Given the description of an element on the screen output the (x, y) to click on. 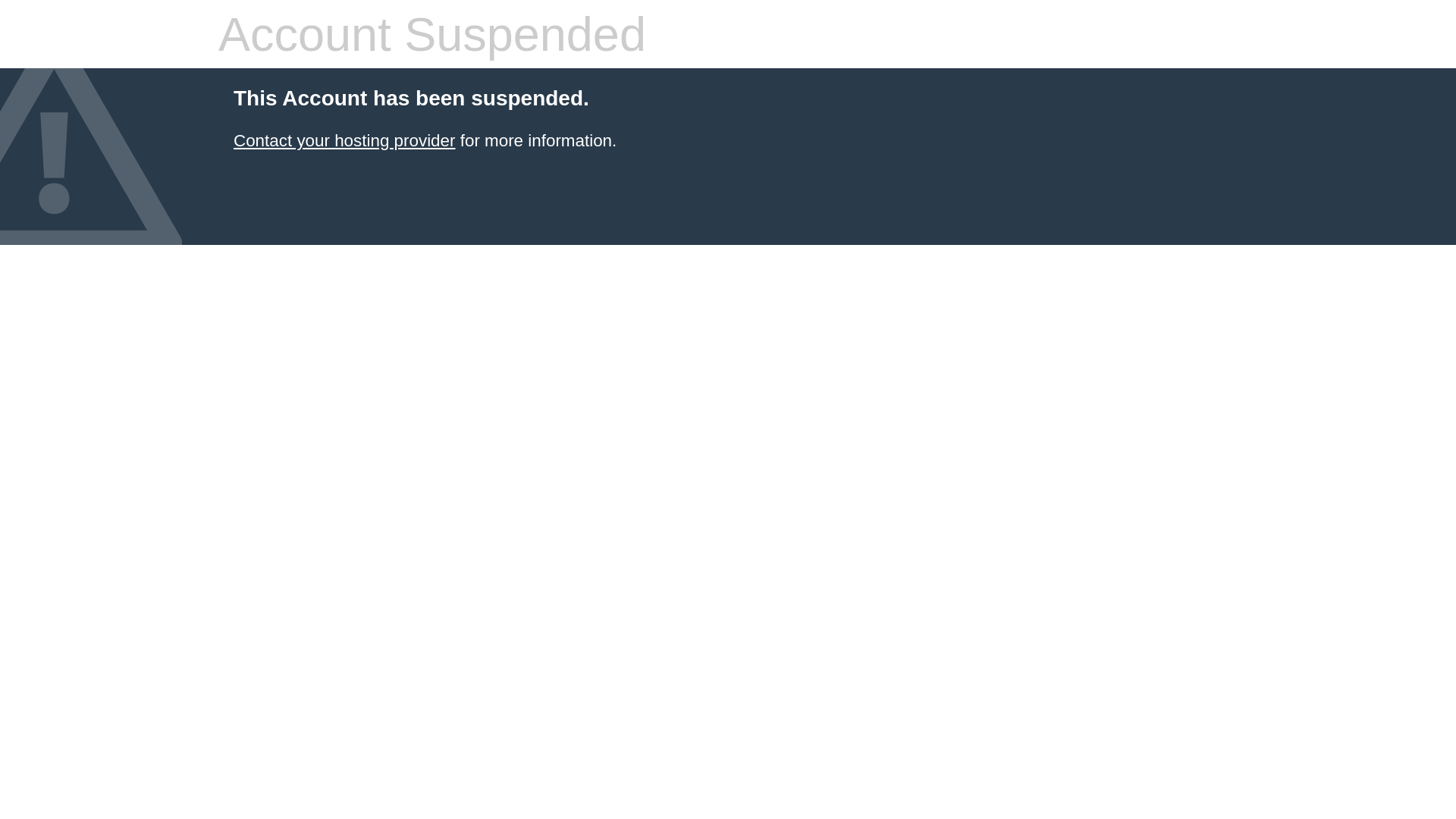
Contact your hosting provider Element type: text (344, 140)
